Given the description of an element on the screen output the (x, y) to click on. 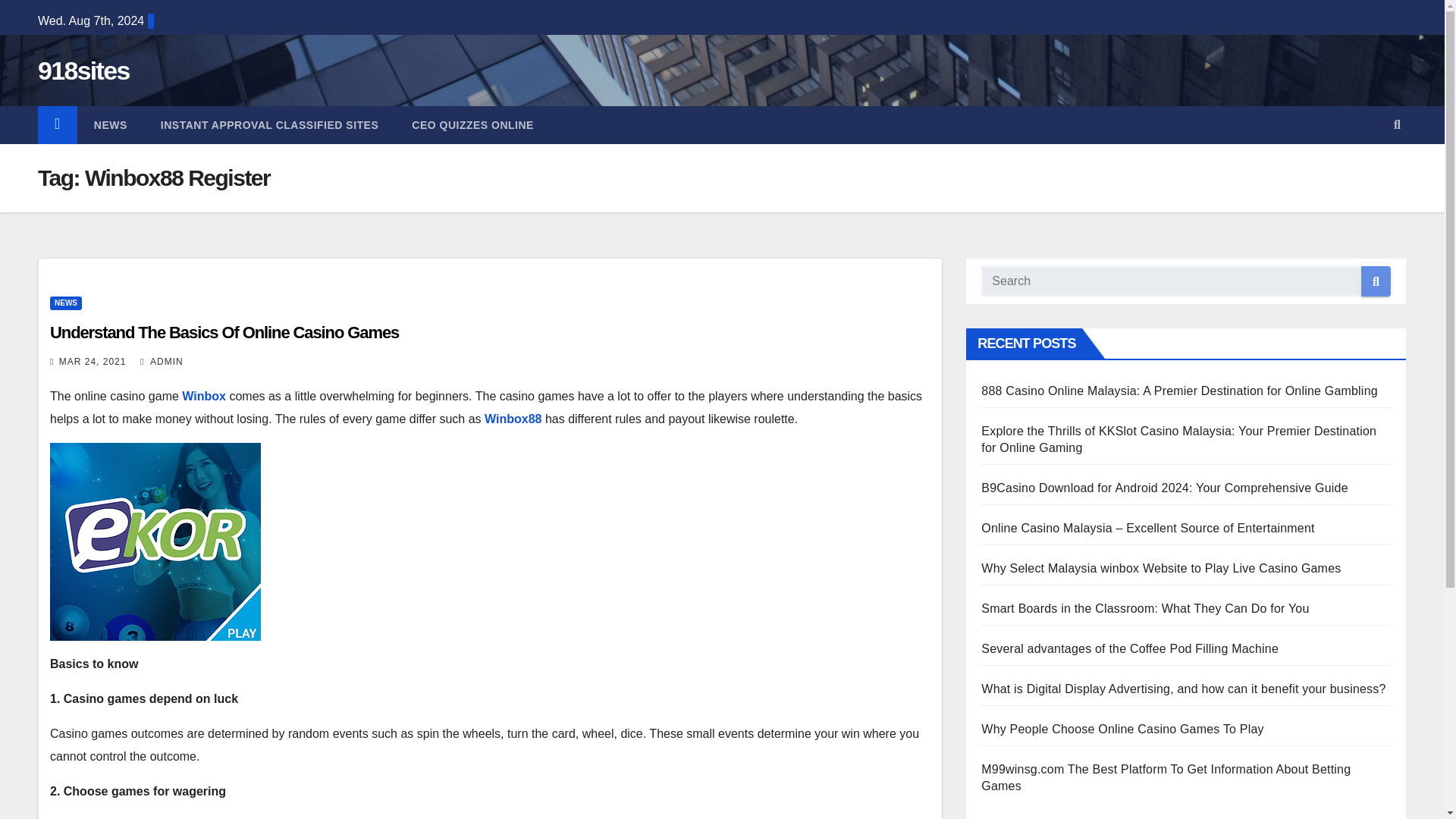
Instant Approval Classified Sites (269, 125)
918sites (83, 70)
NEWS (110, 125)
Understand The Basics Of Online Casino Games (223, 332)
INSTANT APPROVAL CLASSIFIED SITES (269, 125)
B9Casino Download for Android 2024: Your Comprehensive Guide (1164, 487)
Winbox (203, 395)
CEO Quizzes Online (472, 125)
